Given the description of an element on the screen output the (x, y) to click on. 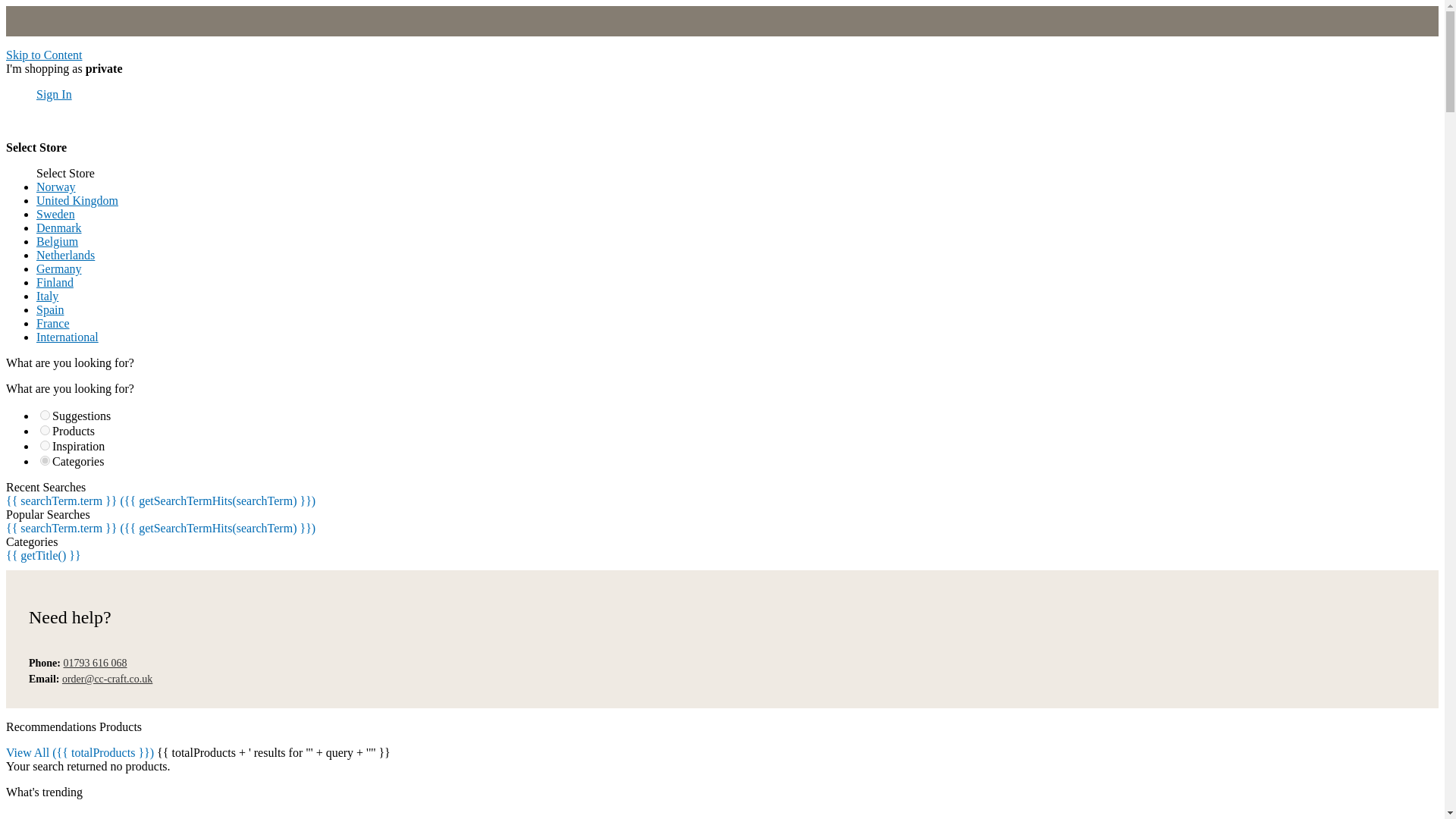
Sign In (53, 93)
products (44, 429)
inspiration (44, 445)
01793 616 068 (96, 663)
categories (44, 460)
Skip to Content (43, 54)
suggestions (44, 415)
